Given the description of an element on the screen output the (x, y) to click on. 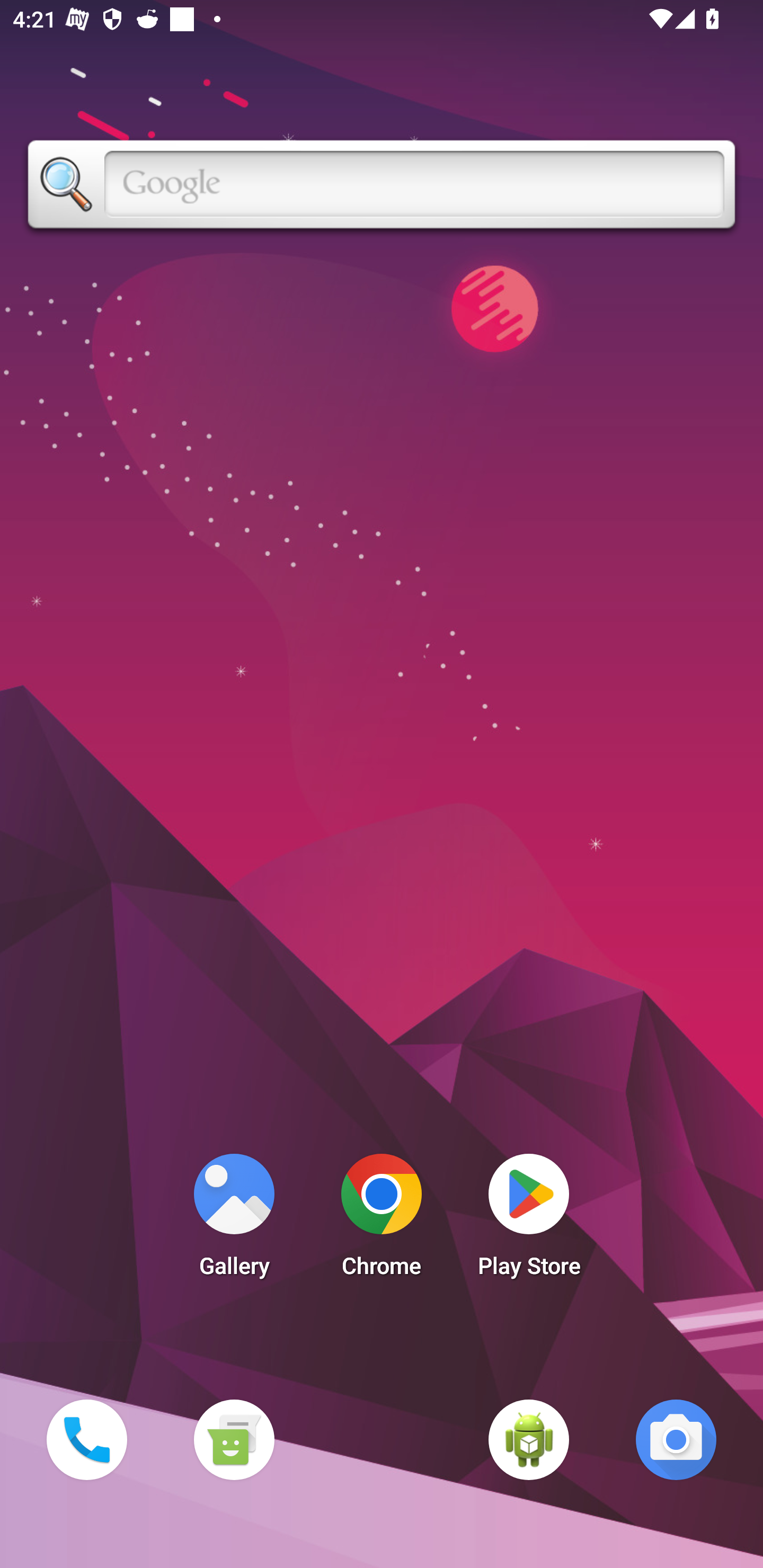
Gallery (233, 1220)
Chrome (381, 1220)
Play Store (528, 1220)
Phone (86, 1439)
Messaging (233, 1439)
WebView Browser Tester (528, 1439)
Camera (676, 1439)
